Given the description of an element on the screen output the (x, y) to click on. 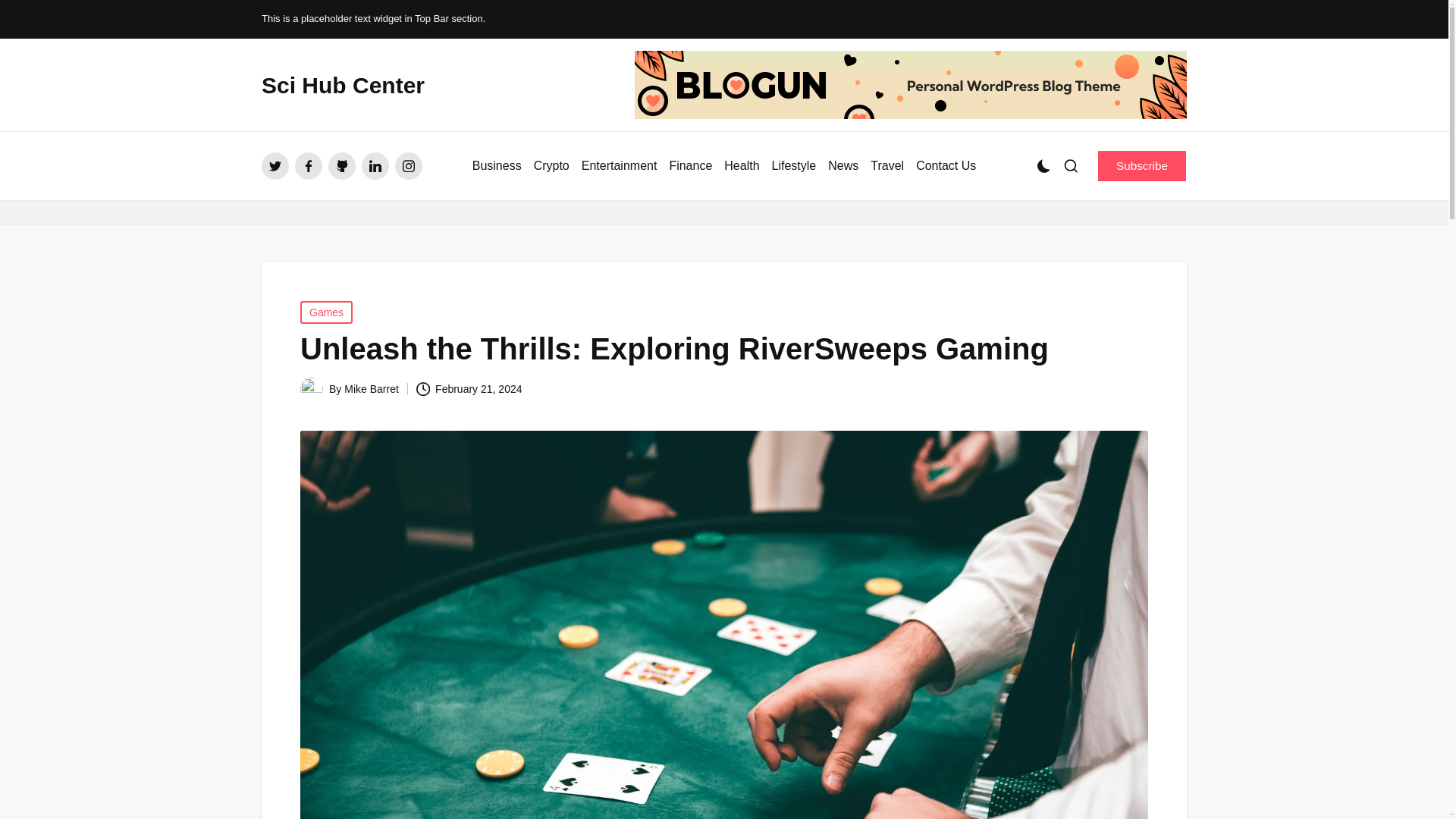
twitter.com (275, 165)
instagram.com (408, 165)
Contact Us (945, 166)
Sci Hub Center (343, 84)
Finance (689, 166)
Lifestyle (793, 166)
Subscribe (1141, 165)
View all posts by Mike Barret (370, 388)
facebook.com (308, 165)
Mike Barret (370, 388)
github.com (342, 165)
Entertainment (619, 166)
Games (325, 312)
linkedin.com (374, 165)
Business (496, 166)
